Given the description of an element on the screen output the (x, y) to click on. 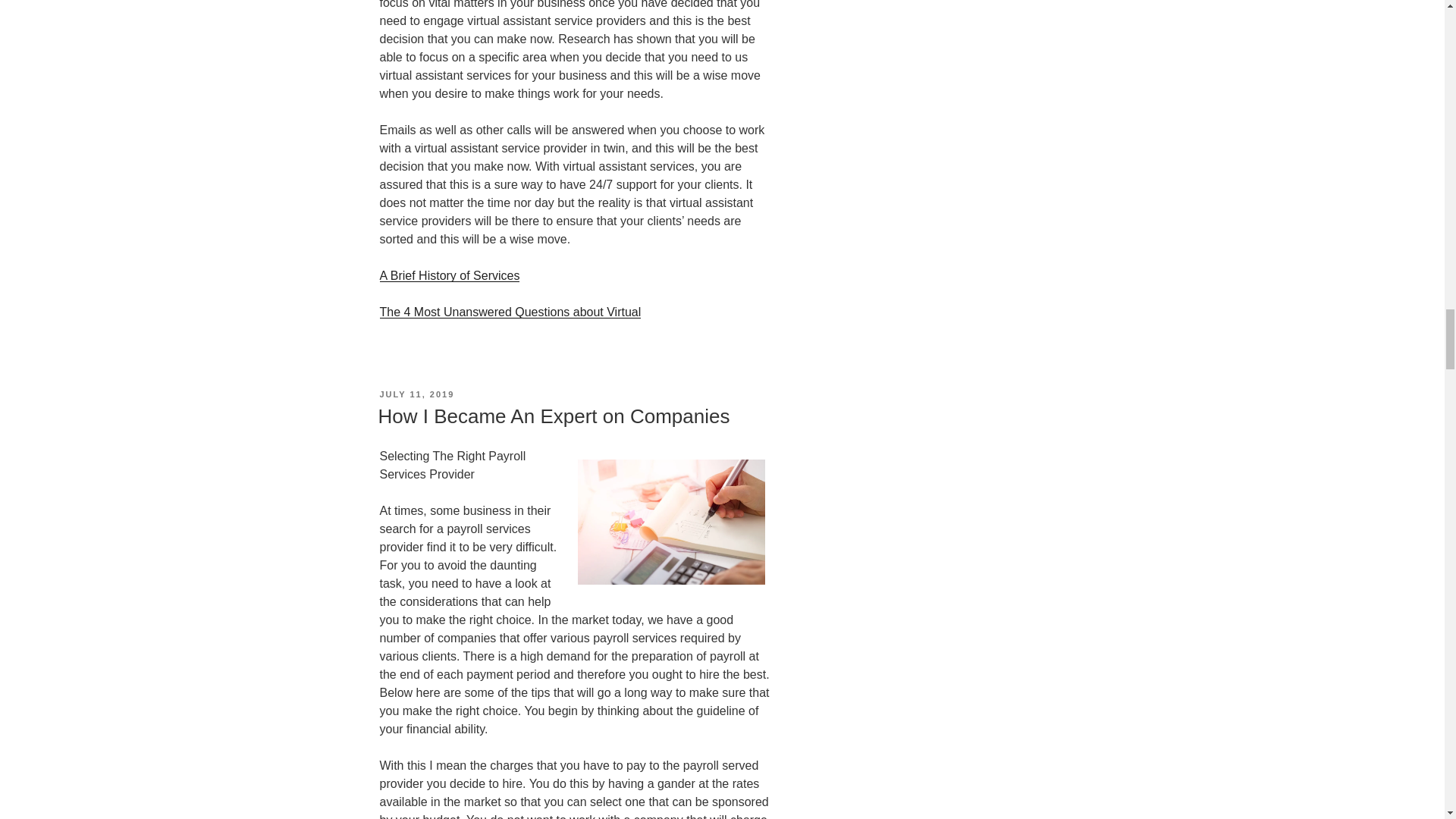
The 4 Most Unanswered Questions about Virtual (509, 311)
How I Became An Expert on Companies (553, 415)
A Brief History of Services (448, 275)
JULY 11, 2019 (416, 393)
